Given the description of an element on the screen output the (x, y) to click on. 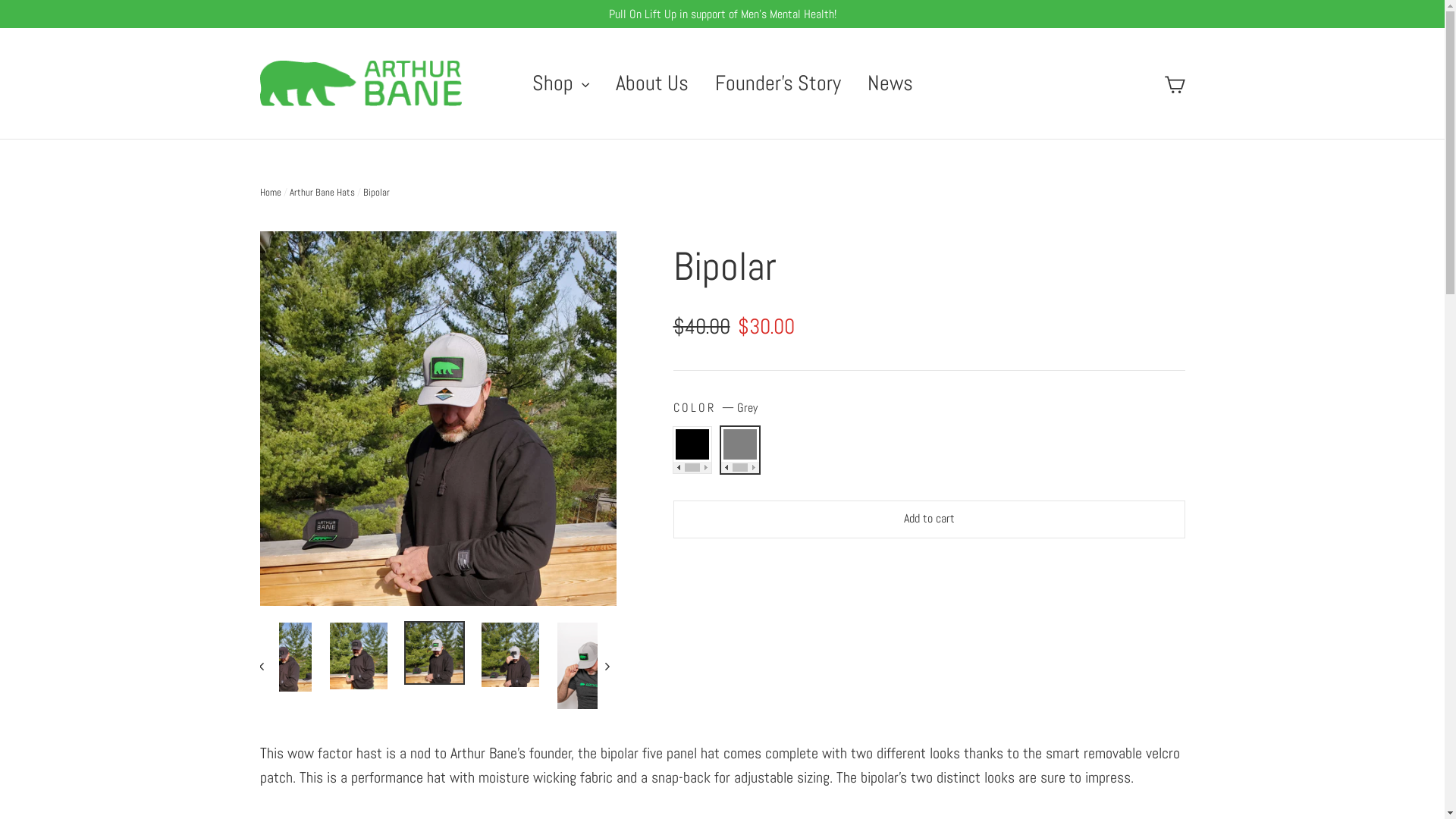
Cart Element type: text (1173, 82)
Founder's Story Element type: text (777, 82)
About Us Element type: text (651, 82)
Skip to content Element type: text (0, 0)
News Element type: text (889, 82)
Next Element type: text (606, 665)
Shop Element type: text (559, 82)
Home Element type: text (269, 191)
Arthur Bane Hats Element type: text (321, 191)
Previous Element type: text (268, 665)
Add to cart Element type: text (929, 519)
